Given the description of an element on the screen output the (x, y) to click on. 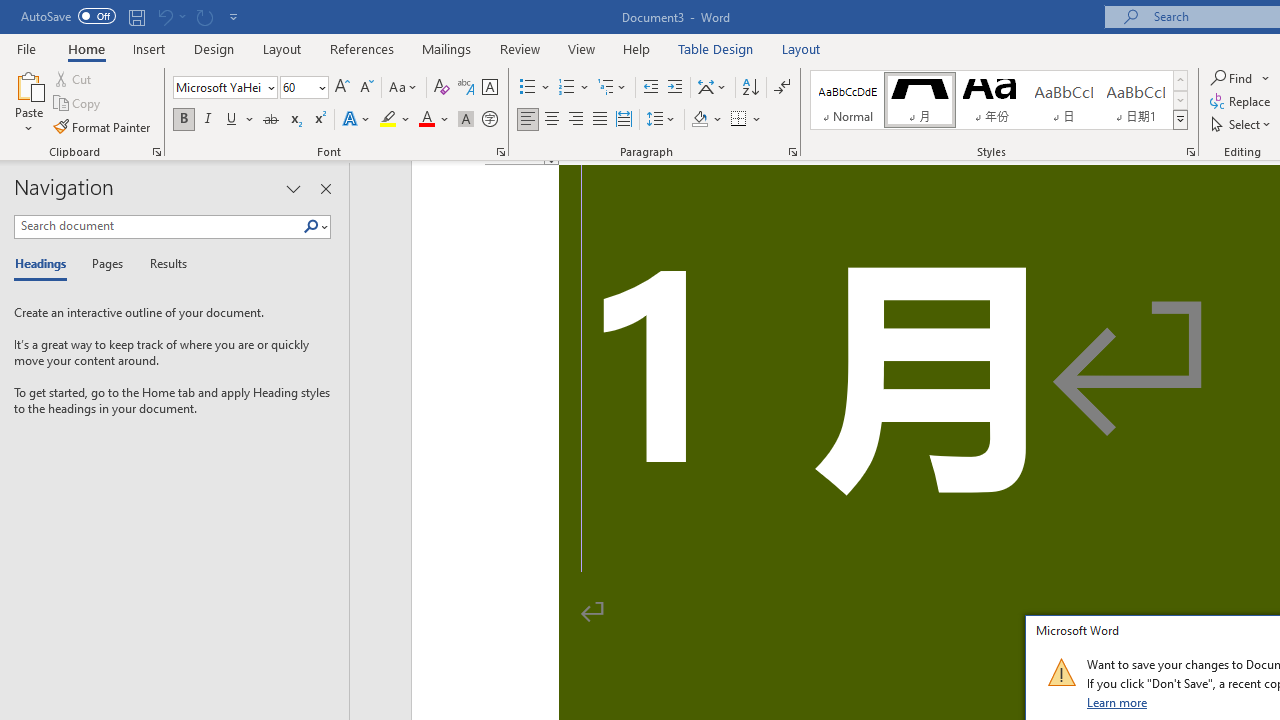
Align Left (527, 119)
Replace... (1242, 101)
Multilevel List (613, 87)
Close pane (325, 188)
Copy (78, 103)
Borders (739, 119)
Search document (157, 226)
Can't Repeat (204, 15)
Align Right (575, 119)
Mailings (447, 48)
Headings (45, 264)
Change Case (404, 87)
Increase Indent (675, 87)
